Given the description of an element on the screen output the (x, y) to click on. 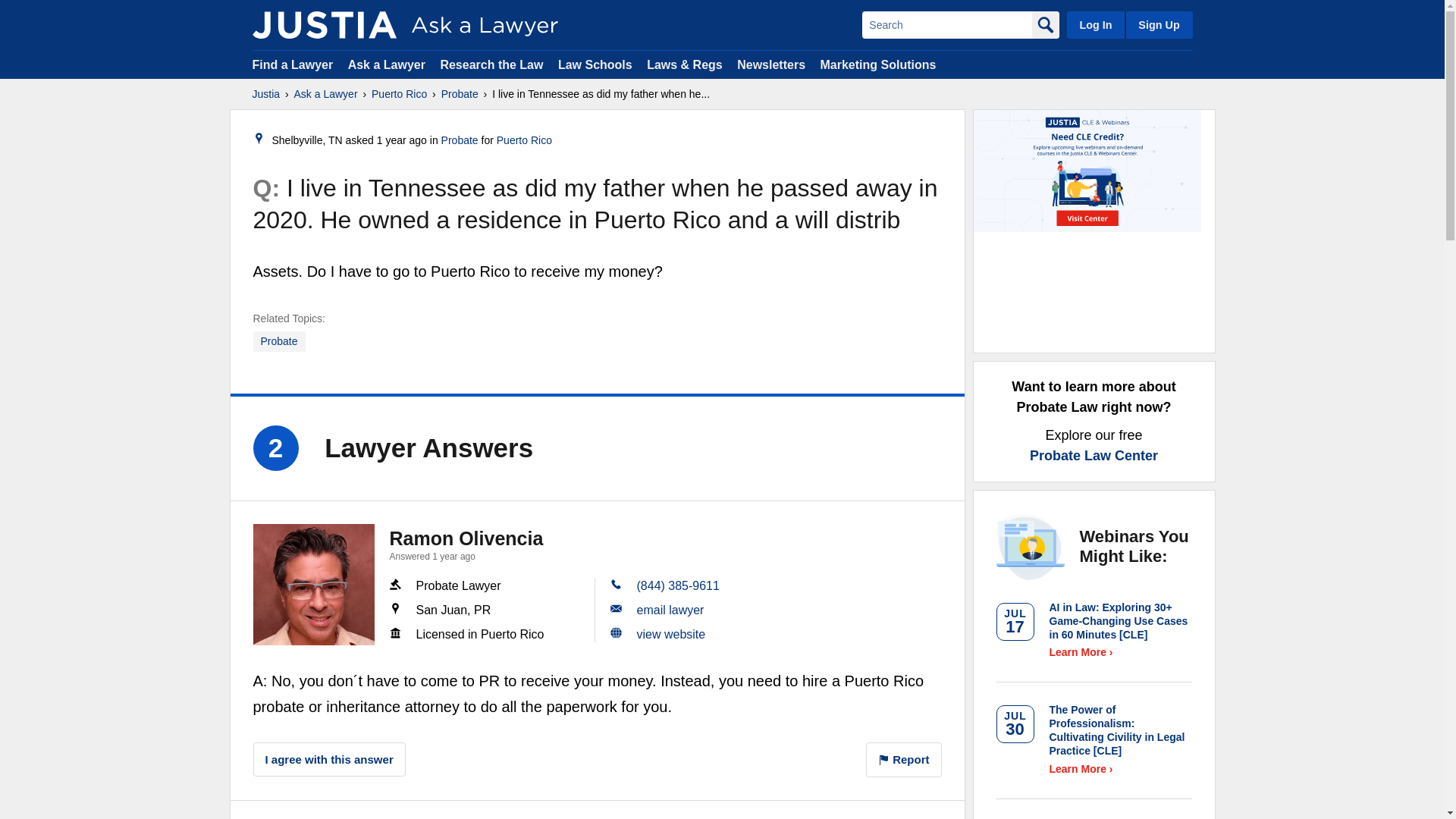
Ramon Olivencia (466, 537)
view website (671, 634)
Newsletters (770, 64)
Justia (265, 93)
Ask a Lawyer (326, 93)
Ramon  Olivencia (313, 584)
Marketing Solutions (877, 64)
Probate (460, 93)
Sign Up (1158, 24)
Justia (323, 24)
Probate (279, 341)
Report (904, 760)
Research the Law (491, 64)
Find a Lawyer (292, 64)
Puerto Rico (523, 140)
